Given the description of an element on the screen output the (x, y) to click on. 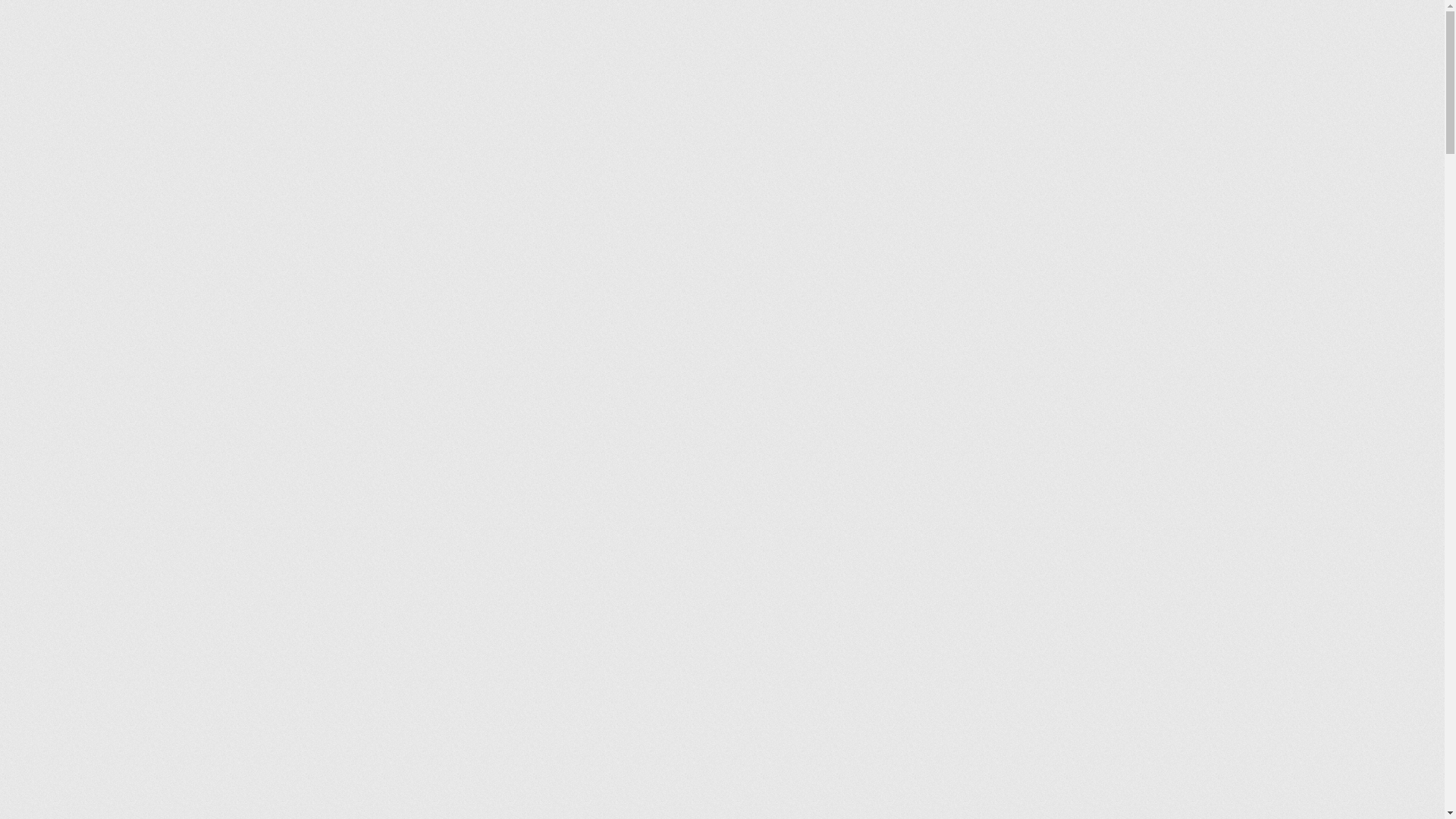
Search (947, 63)
